Given the description of an element on the screen output the (x, y) to click on. 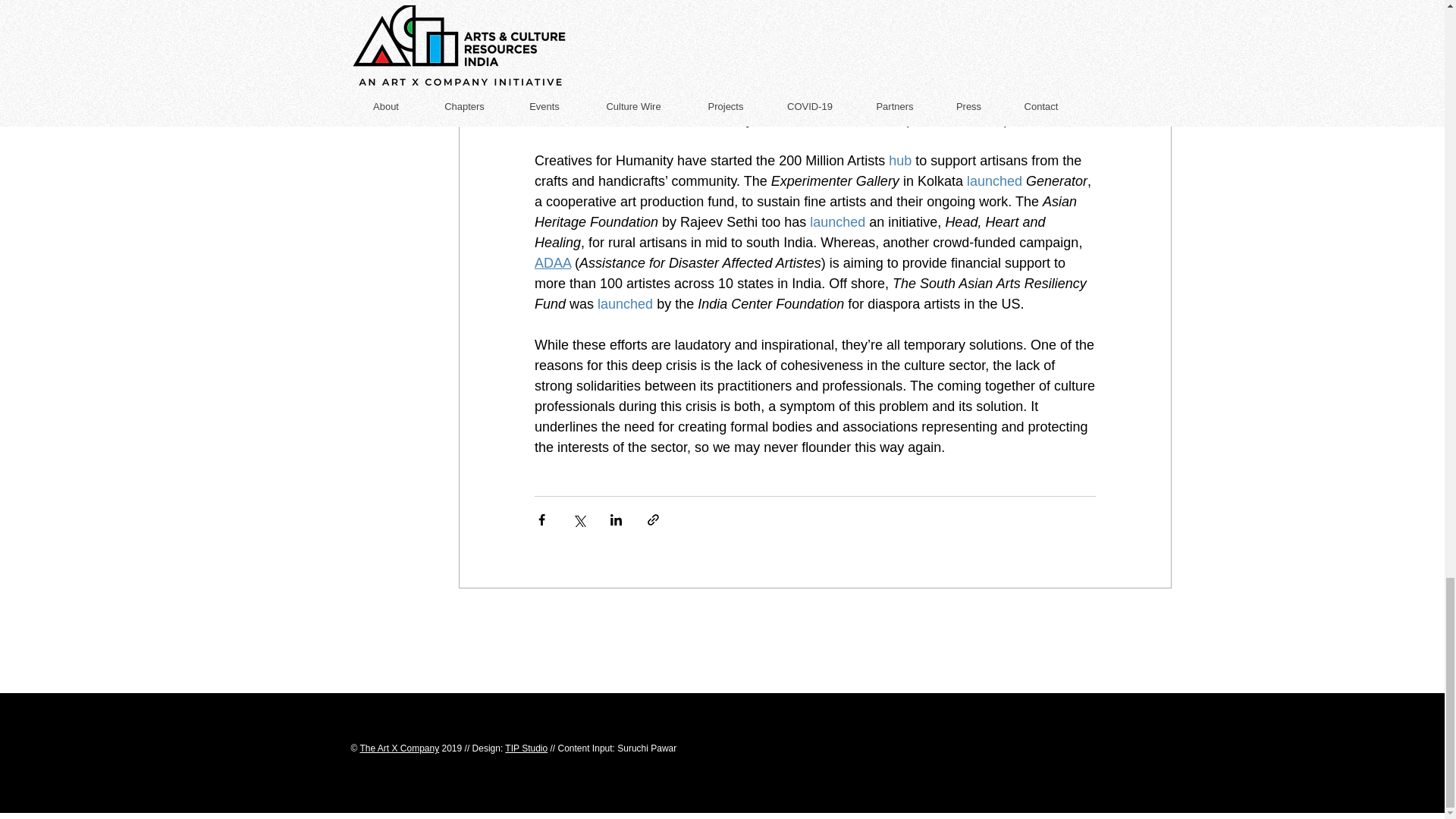
The Art X Company (399, 747)
launched (624, 304)
ADAA (552, 263)
hub (899, 160)
launched (994, 181)
launched (836, 222)
TIP Studio (526, 747)
page (811, 37)
